Given the description of an element on the screen output the (x, y) to click on. 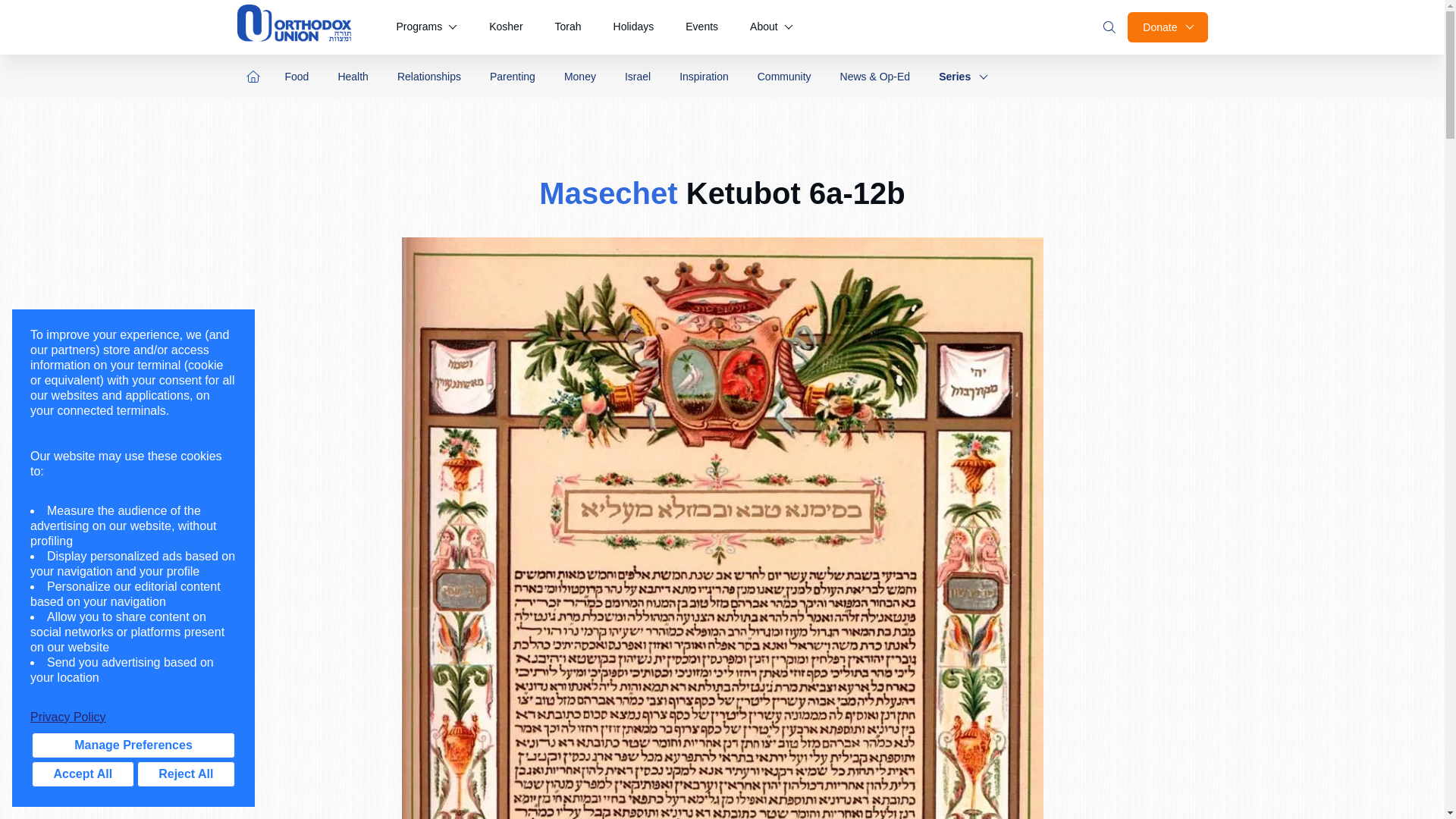
Holidays (633, 27)
Torah (568, 27)
Privacy Policy (132, 717)
Accept All (82, 774)
Events (701, 27)
Kosher (505, 27)
Reject All (185, 774)
About (771, 27)
Manage Preferences (133, 745)
Programs (425, 27)
